Given the description of an element on the screen output the (x, y) to click on. 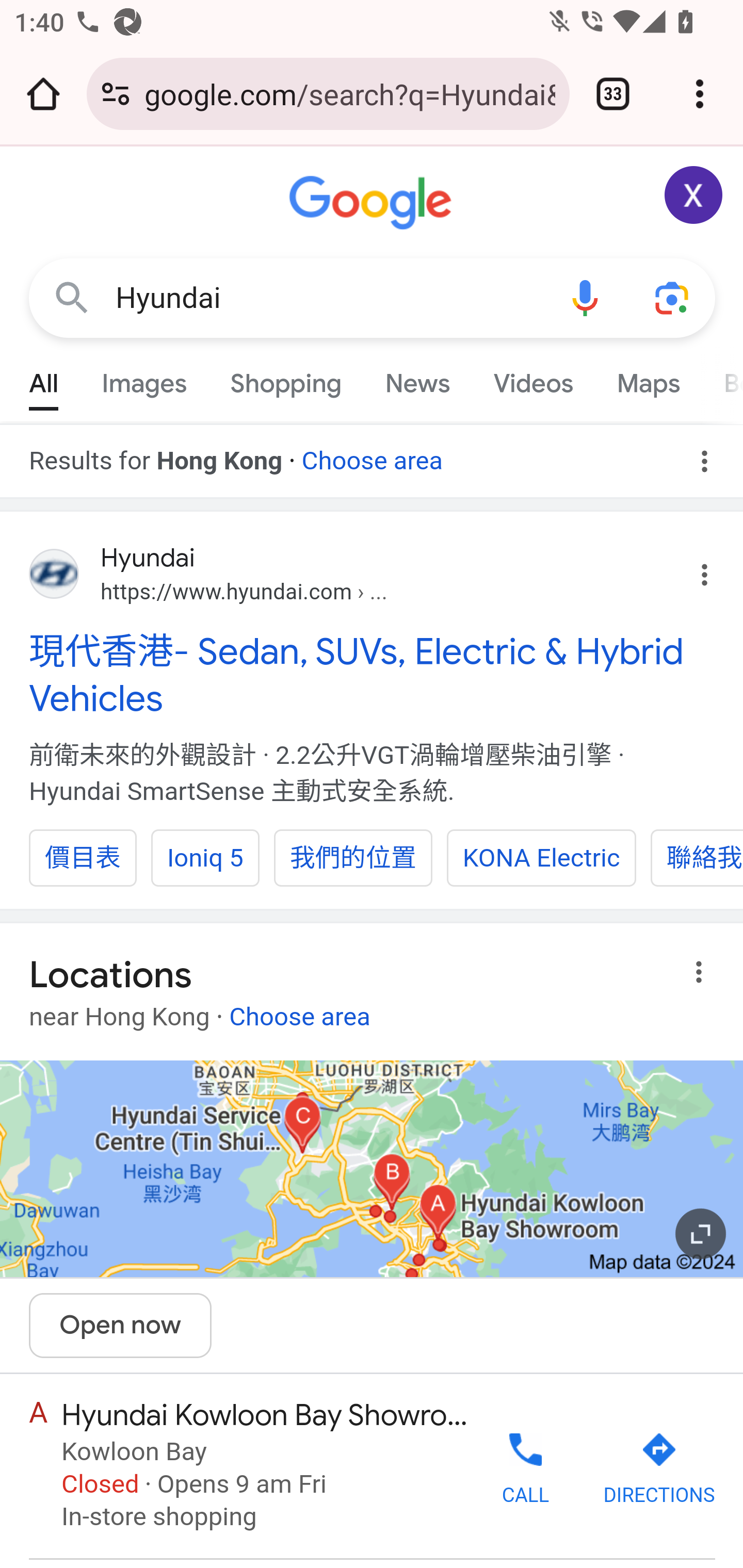
Open the home page (43, 93)
Connection is secure (115, 93)
Switch or close tabs (612, 93)
Customize and control Google Chrome (699, 93)
Google (372, 203)
Google Account: Xiaoran (zxrappiumtest@gmail.com) (694, 195)
Google Search (71, 296)
Search using your camera or photos (672, 296)
Hyundai (328, 297)
Images (144, 378)
Shopping (285, 378)
News (417, 378)
Videos (533, 378)
Maps (647, 378)
Choose area (371, 453)
現代香港- Sedan, SUVs, Electric & Hybrid Vehicles (372, 674)
價目表 (82, 857)
Ioniq 5 (204, 857)
我們的位置 (352, 857)
KONA Electric (541, 857)
聯絡我們 (696, 857)
About this result (702, 971)
Choose area (299, 1009)
Map of Hyundai (371, 1168)
Open now (120, 1325)
CALL (525, 1466)
DIRECTIONS (658, 1469)
